Given the description of an element on the screen output the (x, y) to click on. 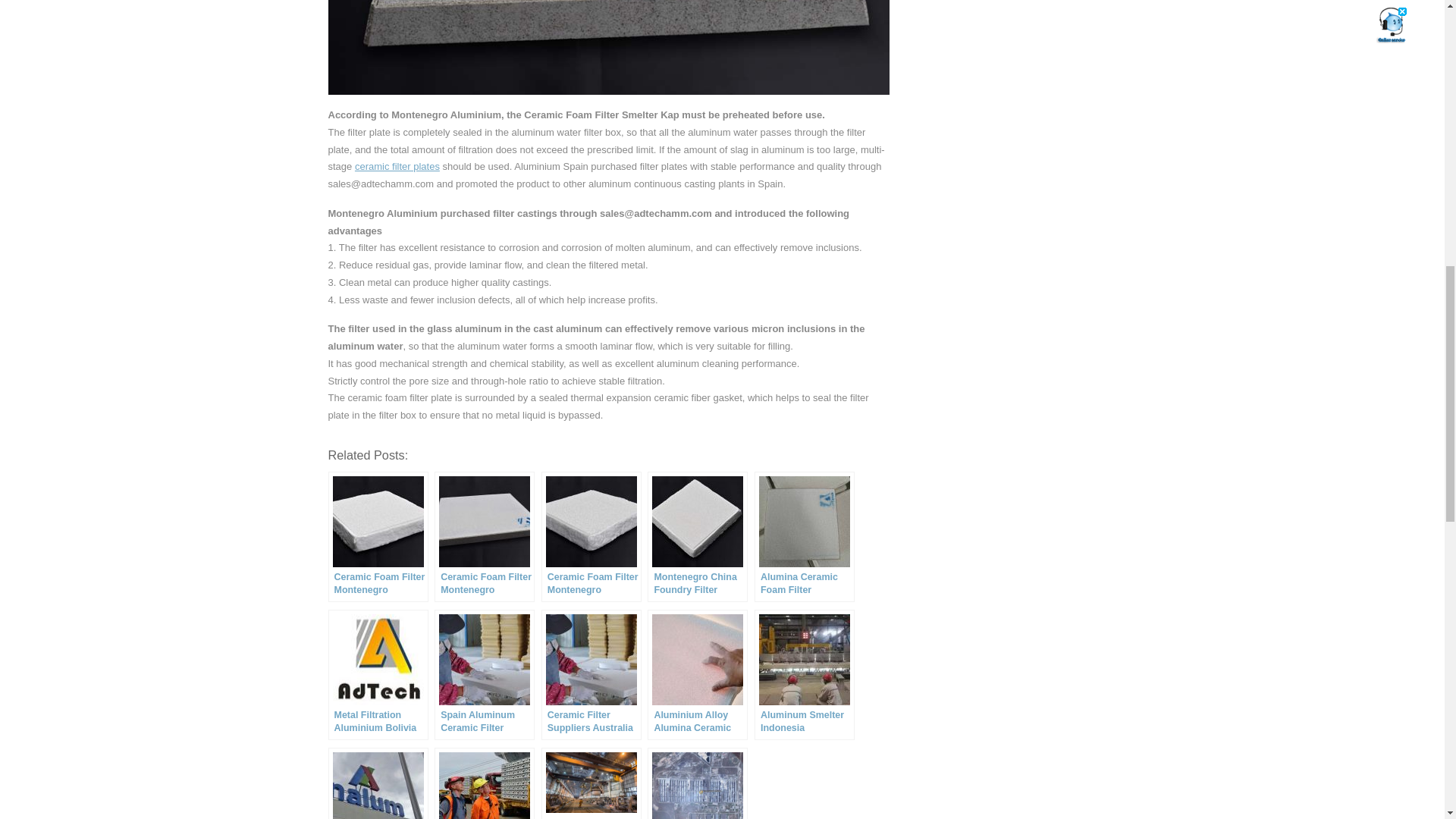
Indonesia Aluminium Smelter (377, 783)
ceramic filter plates (397, 165)
Krasnoyarsk Aluminium Smelter (697, 783)
Aluminium Sayanogorsk Smelter (591, 783)
Tiwai Aluminium Smelter (483, 783)
